Given the description of an element on the screen output the (x, y) to click on. 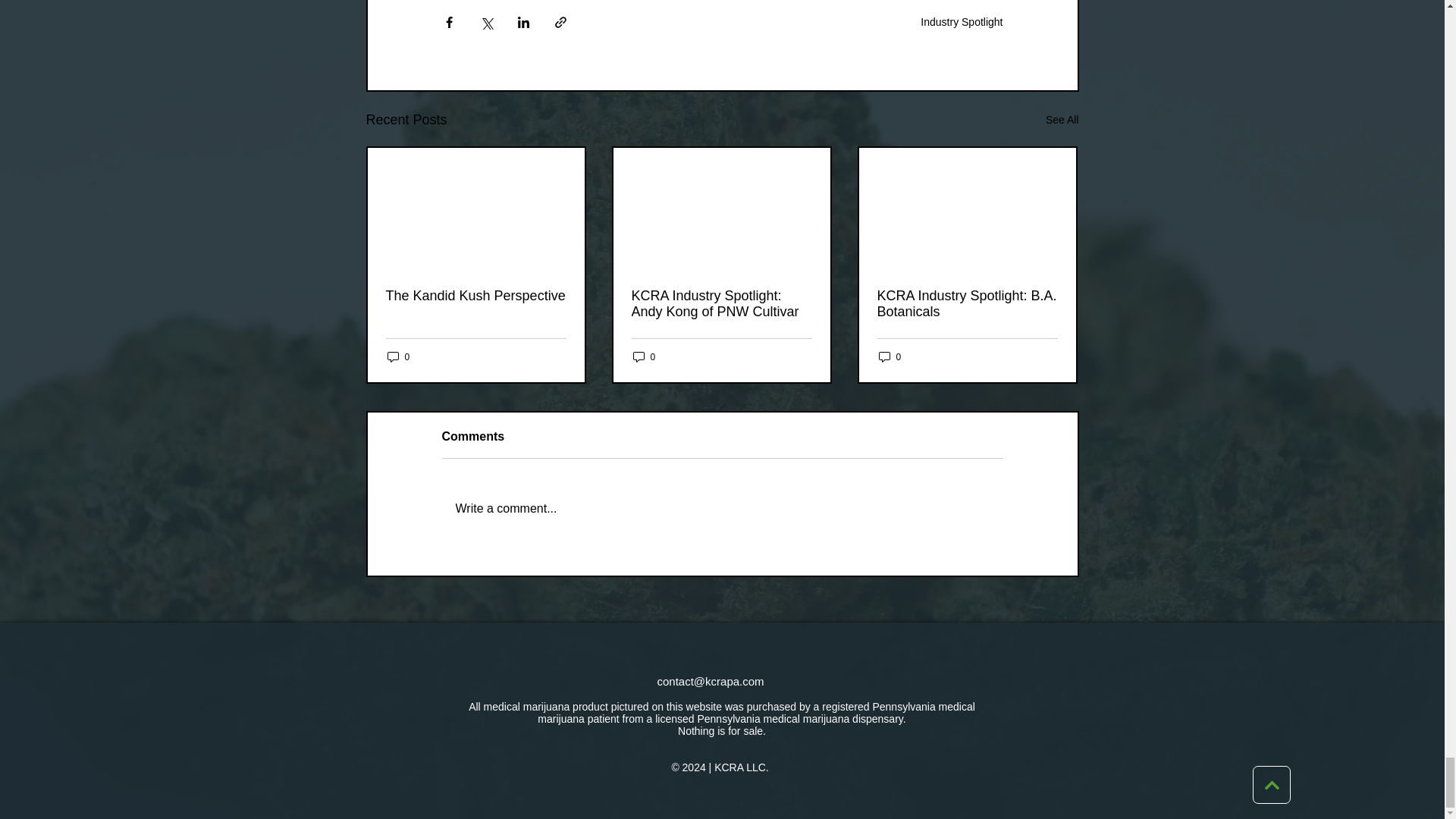
See All (1061, 119)
0 (889, 356)
Write a comment... (721, 508)
The Kandid Kush Perspective (475, 295)
KCRA Industry Spotlight: B.A. Botanicals (966, 304)
Industry Spotlight (961, 21)
KCRA Industry Spotlight: Andy Kong of PNW Cultivar (720, 304)
0 (643, 356)
0 (397, 356)
